Given the description of an element on the screen output the (x, y) to click on. 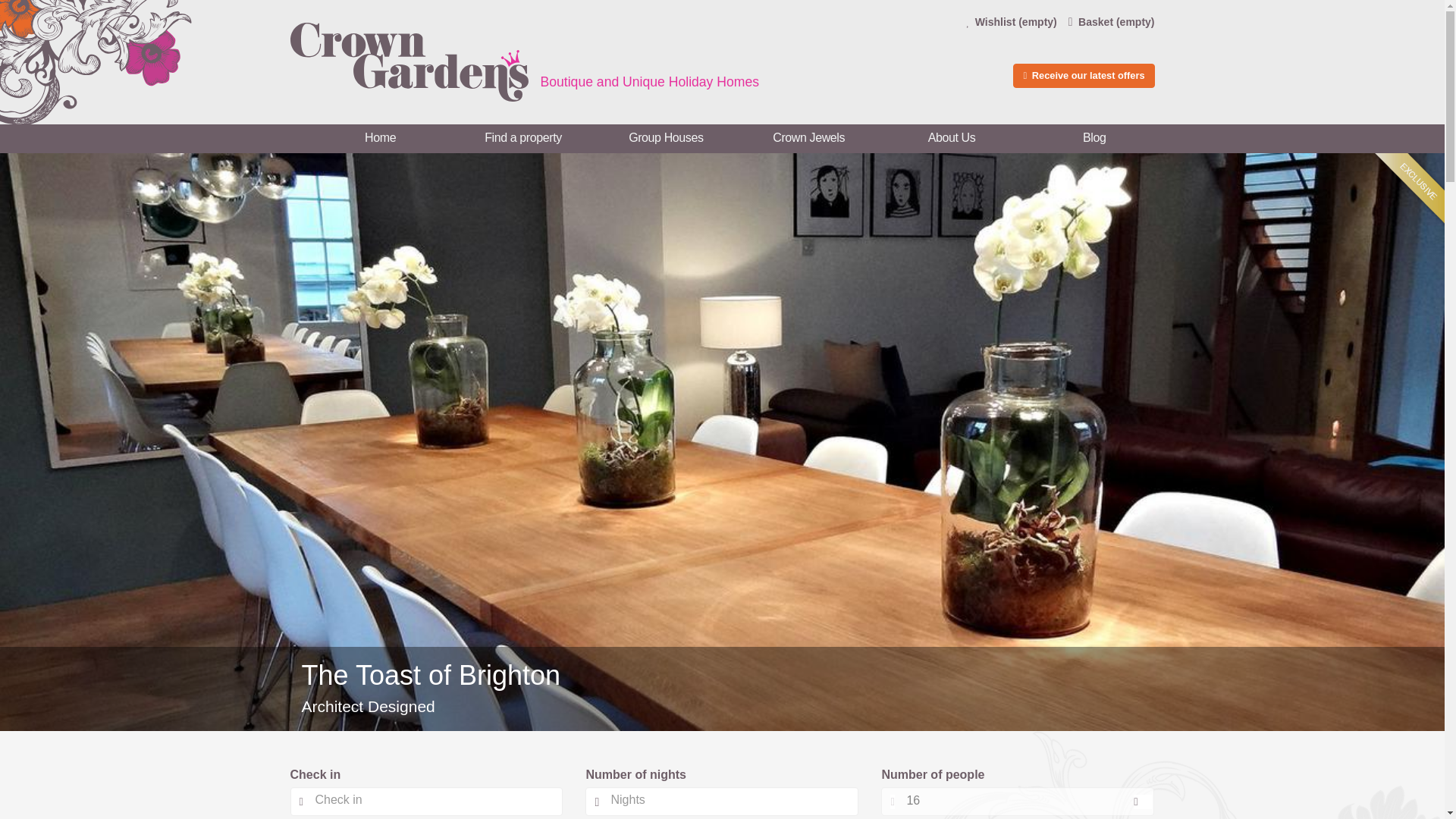
Find a property (522, 138)
Home (379, 138)
Group Houses (665, 138)
